Given the description of an element on the screen output the (x, y) to click on. 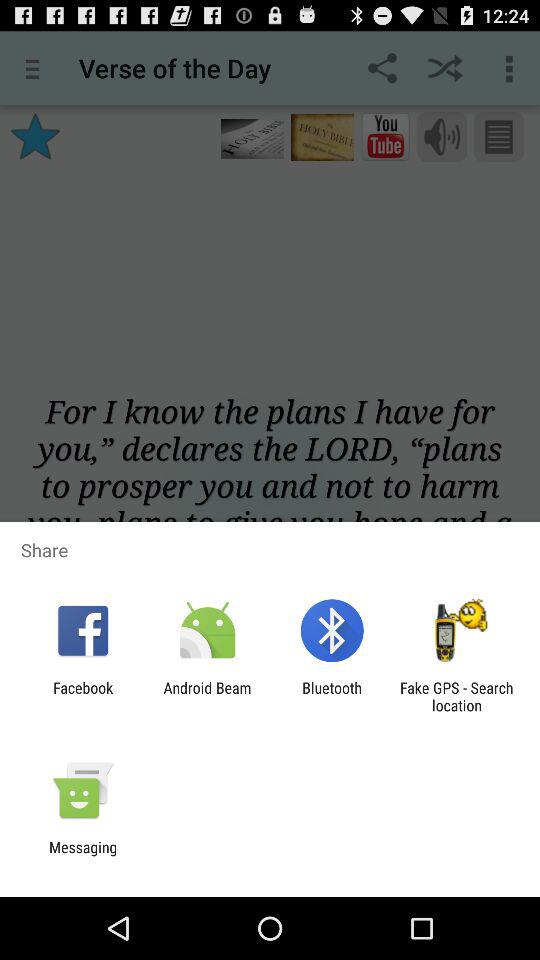
select the item next to the bluetooth icon (456, 696)
